Given the description of an element on the screen output the (x, y) to click on. 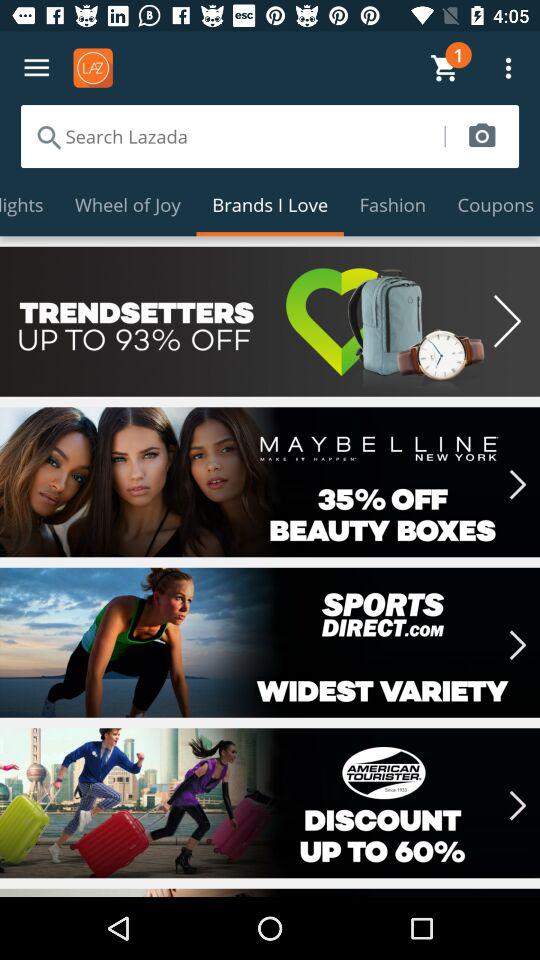
open item above the highlights icon (232, 136)
